Given the description of an element on the screen output the (x, y) to click on. 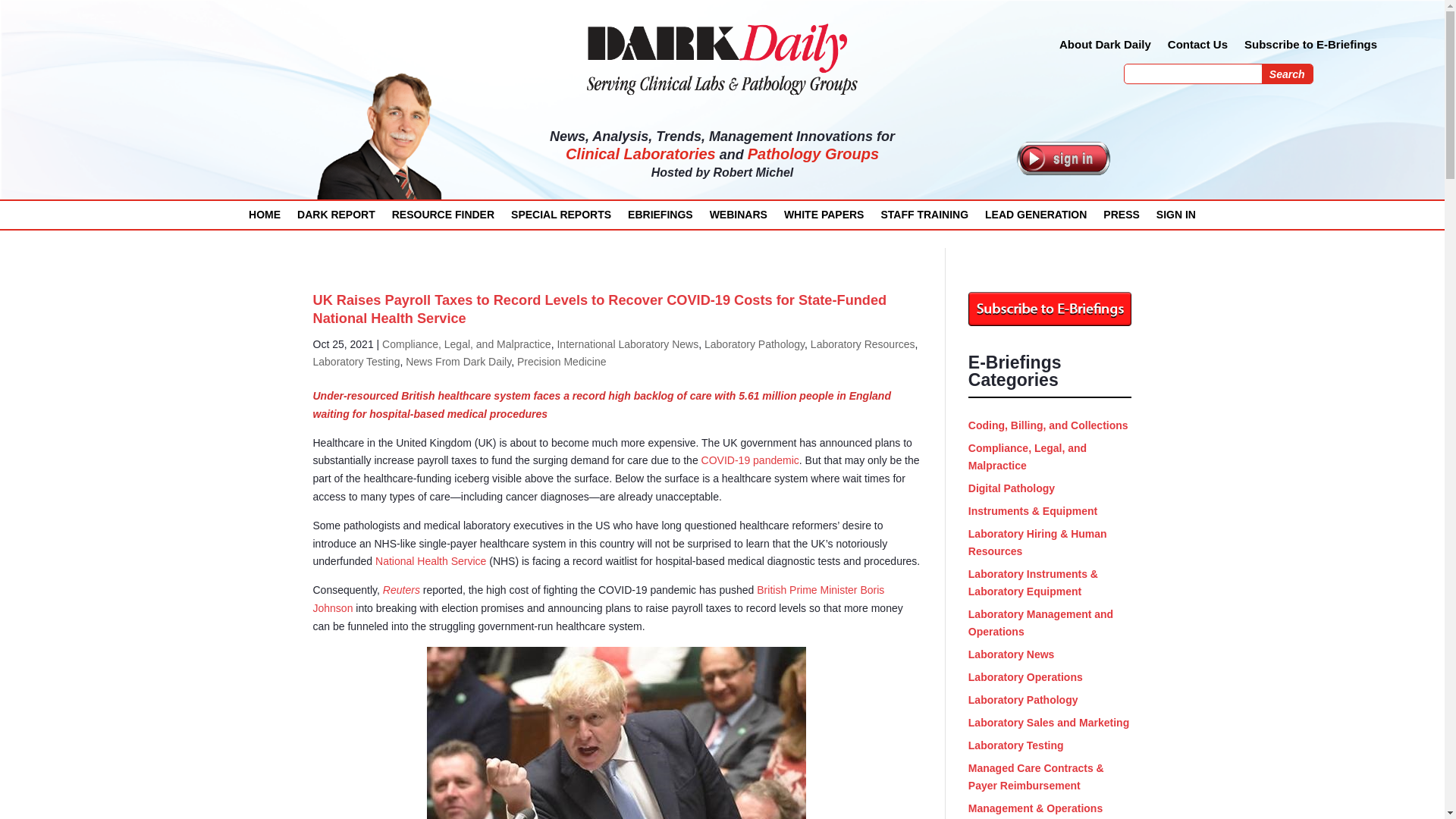
Contact Us (1197, 47)
Search (1287, 73)
Search (1287, 73)
robert-michael-dark-daily (380, 137)
sign-in-for-dark-daily (1063, 158)
Subscribe to E-Briefings (1310, 47)
Search (1287, 73)
About Dark Daily (1105, 47)
RESOURCE FINDER (443, 217)
HOME (264, 217)
dark-daily-serving-clinical-labs (722, 58)
DARK REPORT (336, 217)
